Given the description of an element on the screen output the (x, y) to click on. 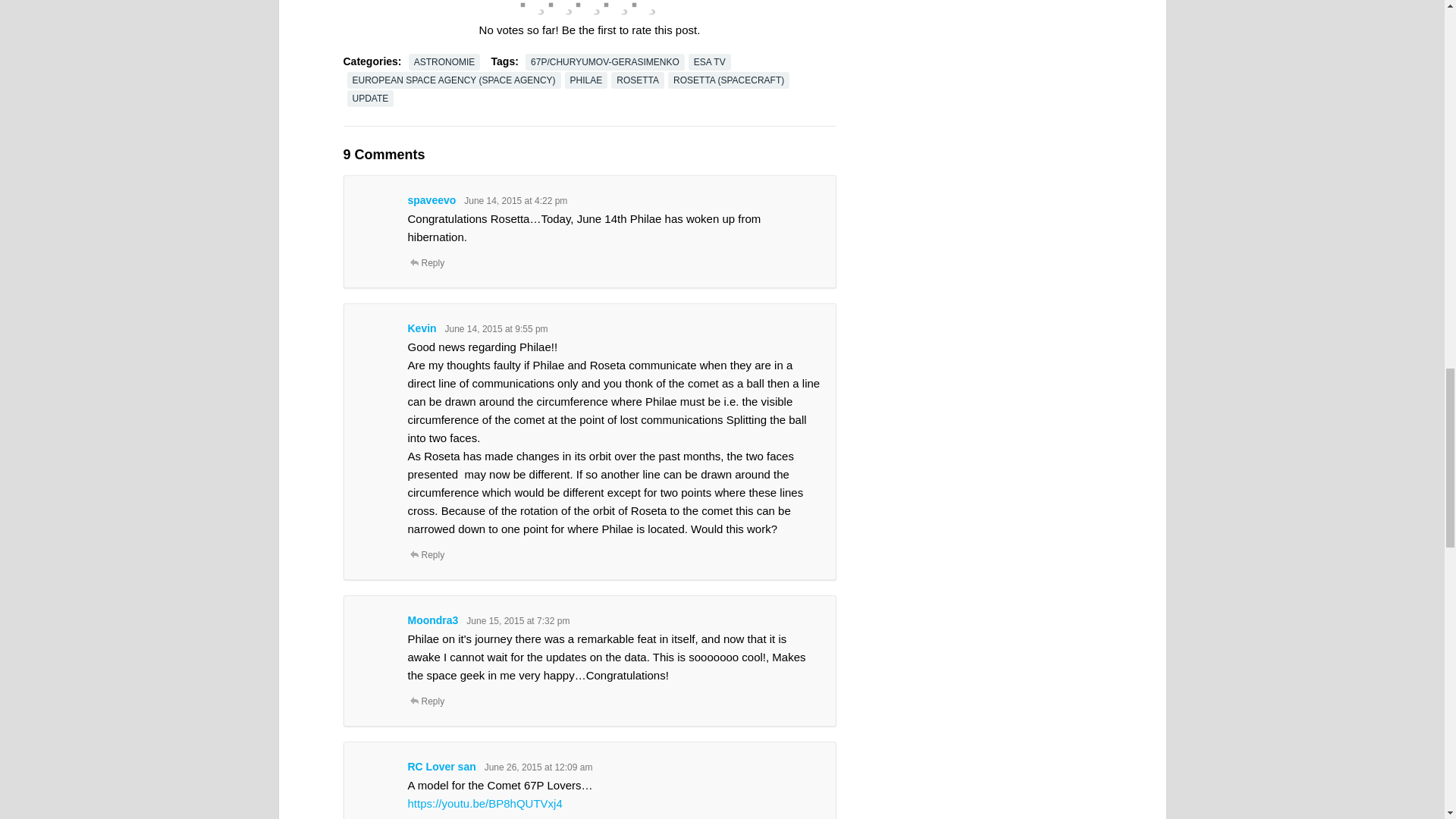
Reply (426, 262)
June 14, 2015 at 4:22 pm (515, 200)
UPDATE (370, 98)
ESA TV (709, 62)
spaveevo (432, 200)
ROSETTA (637, 80)
PHILAE (586, 80)
ASTRONOMIE (444, 62)
